Given the description of an element on the screen output the (x, y) to click on. 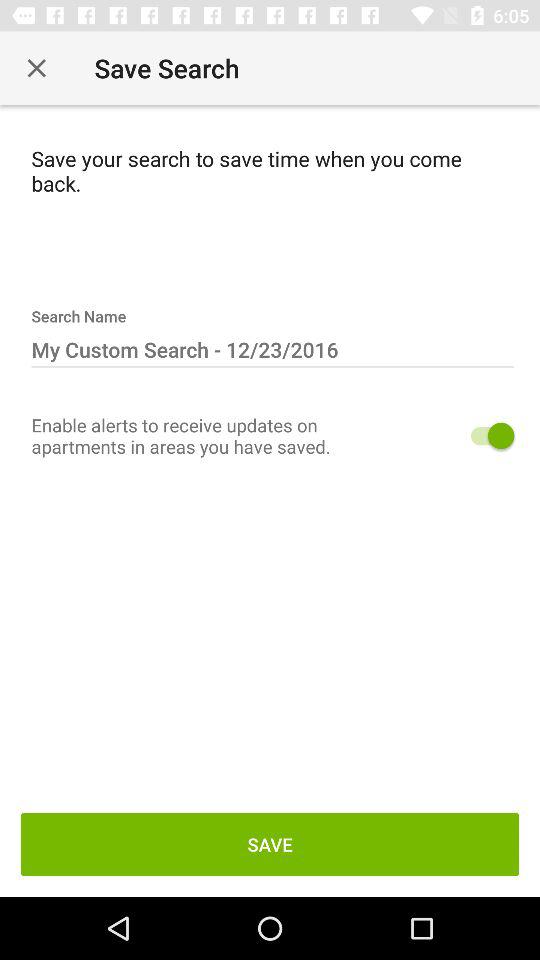
go to exit (36, 68)
